Given the description of an element on the screen output the (x, y) to click on. 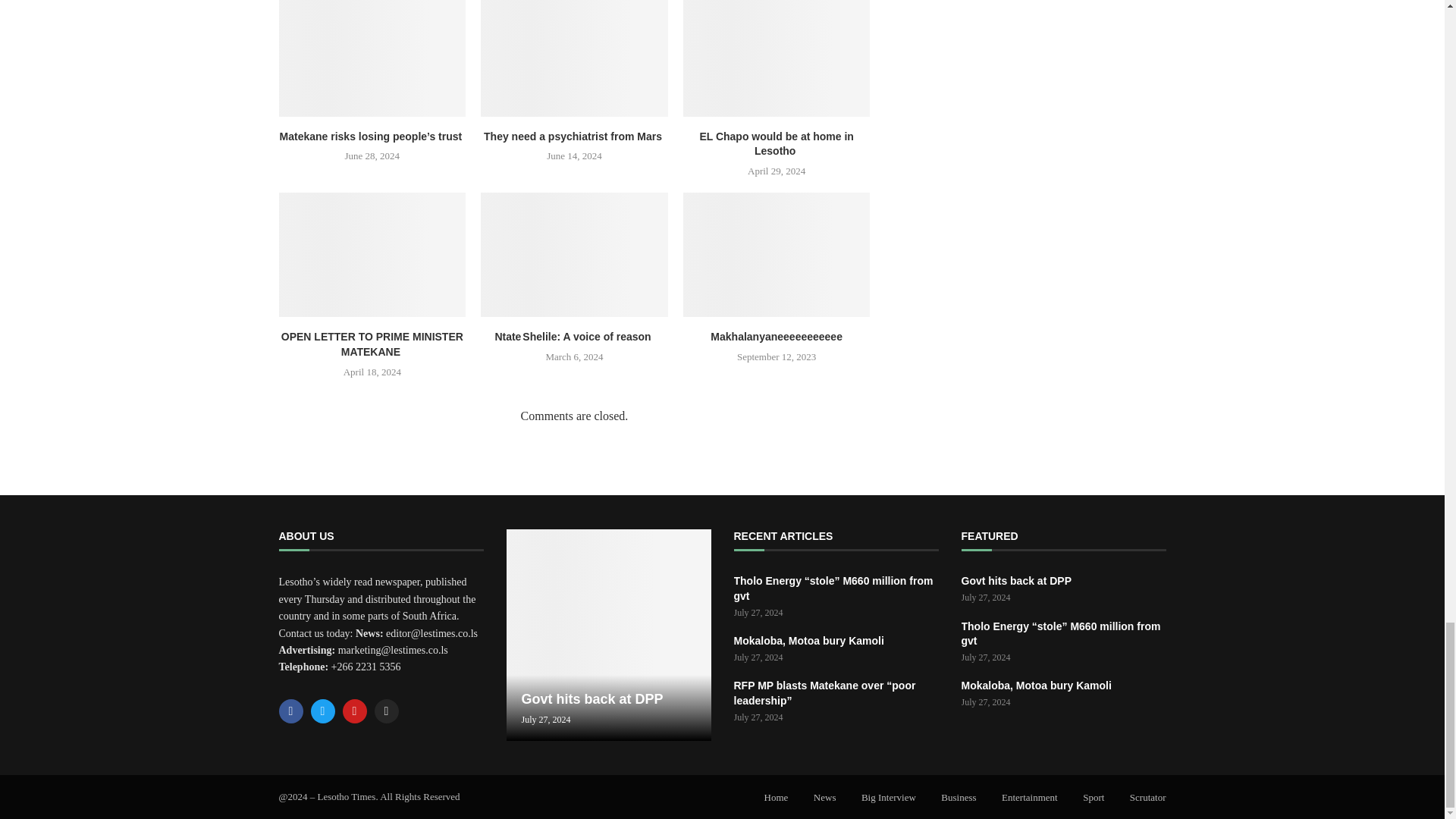
Makhalanyaneeeeeeeeeee (776, 254)
